Given the description of an element on the screen output the (x, y) to click on. 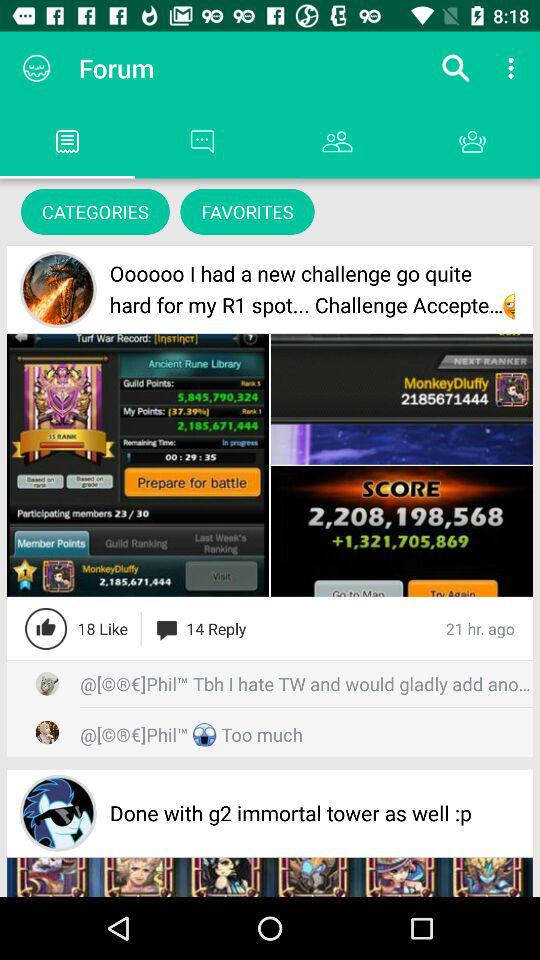
press item to the right of the forum item (455, 67)
